Given the description of an element on the screen output the (x, y) to click on. 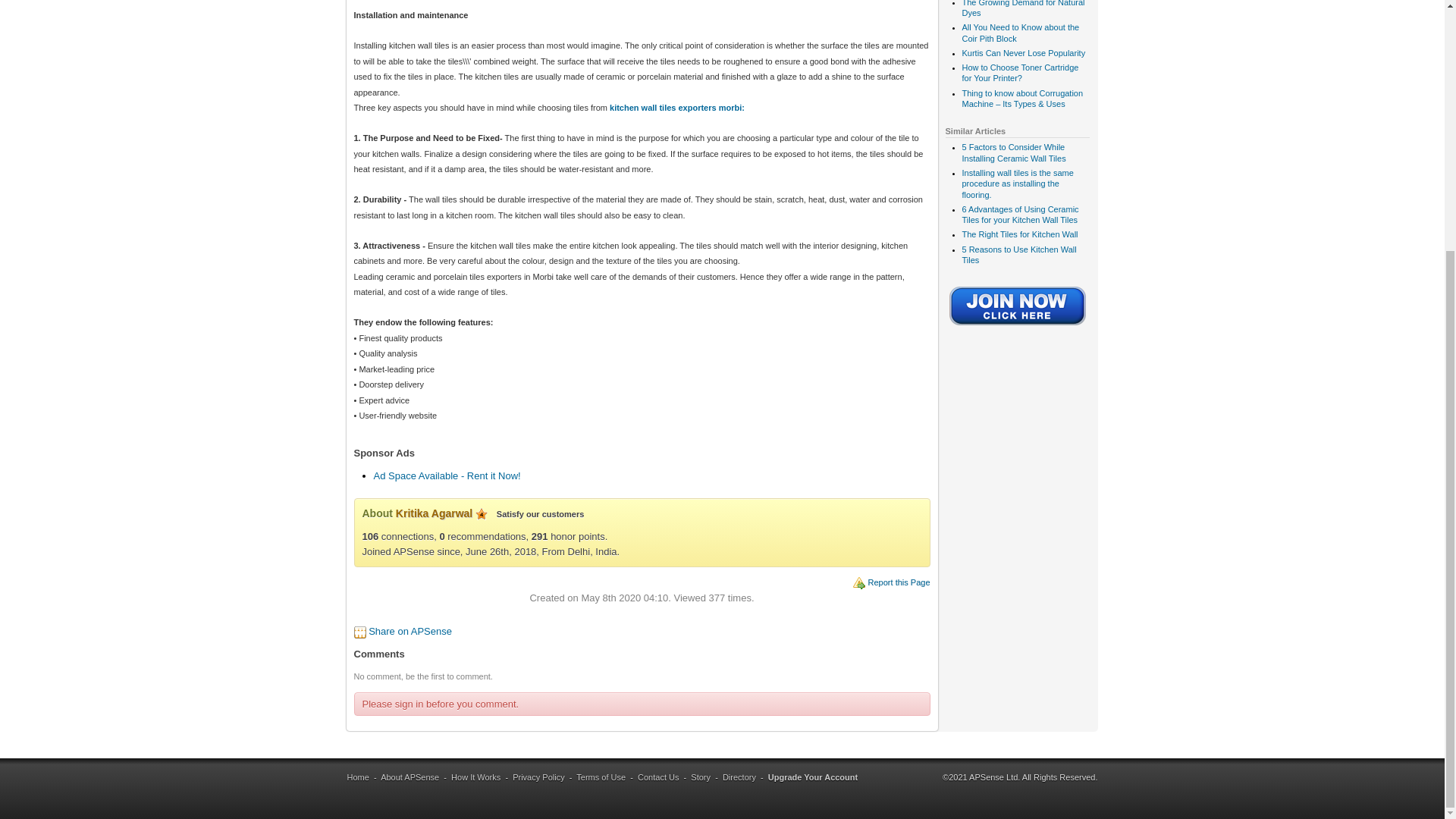
Kurtis Can Never Lose Popularity (1022, 52)
Ad Space Available - Rent it Now! (445, 475)
How to Choose Toner Cartridge for Your Printer? (1019, 72)
Report this Page (898, 582)
Kurtis Can Never Lose Popularity (1022, 52)
kitchen wall tiles exporters morbi: (675, 107)
Share on APSense (409, 631)
Join APSense Social Network (1017, 326)
The Growing Demand for Natural Dyes (1022, 8)
